Given the description of an element on the screen output the (x, y) to click on. 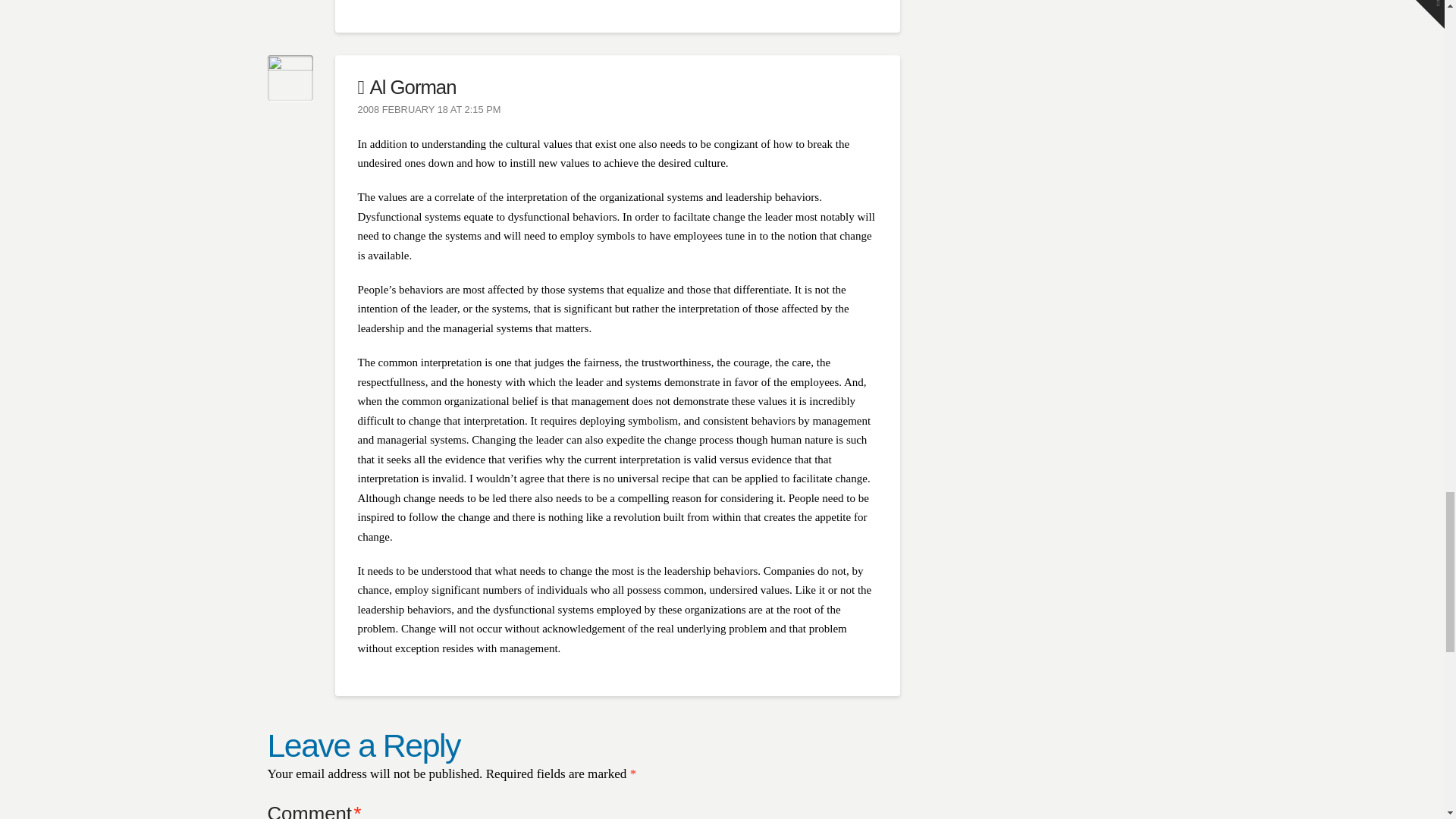
2008 FEBRUARY 18 AT 2:15 PM (429, 110)
